Given the description of an element on the screen output the (x, y) to click on. 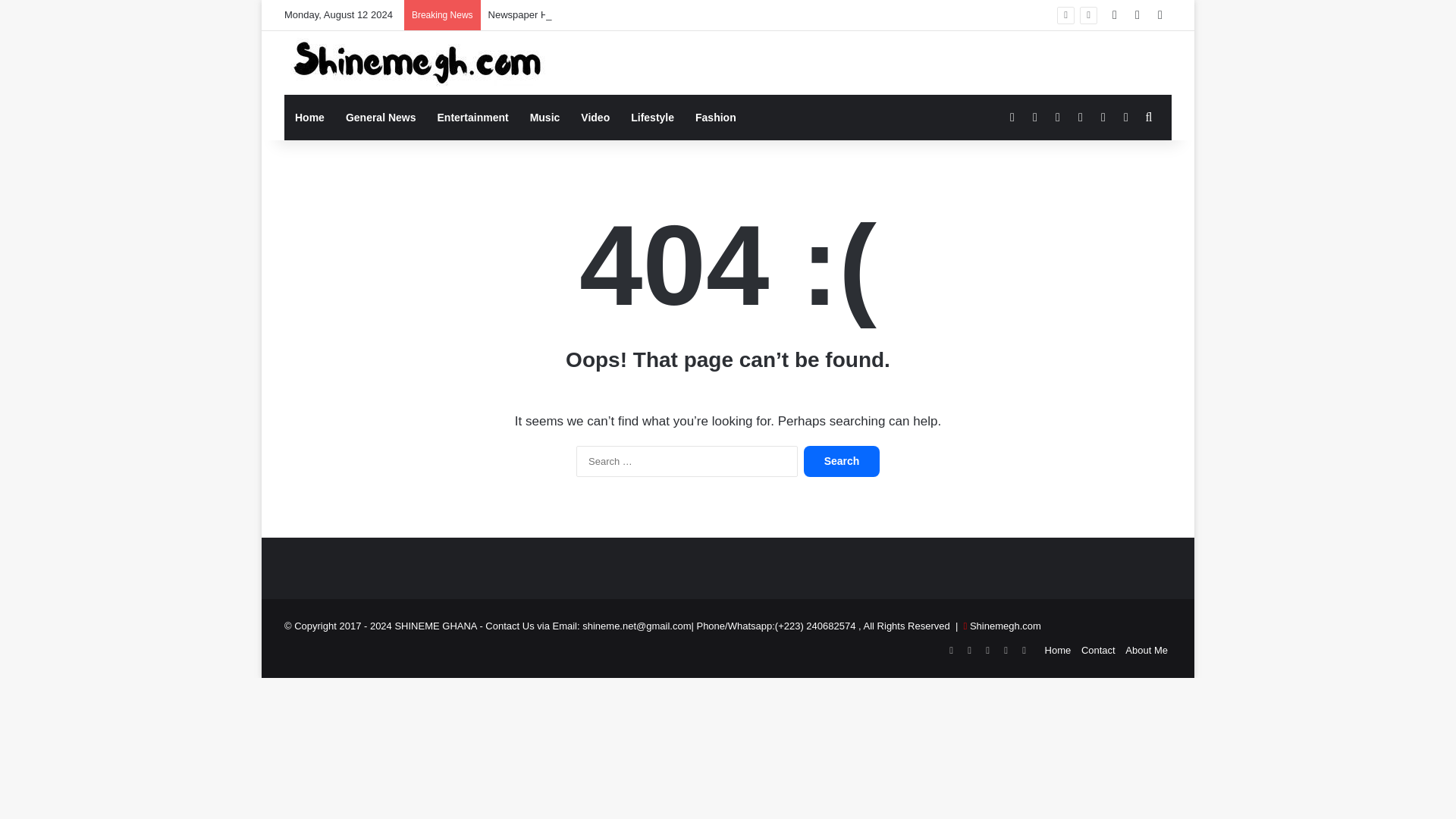
Home (1058, 650)
Shinemegh.com (1005, 625)
Home (308, 117)
Instagram (1005, 650)
Music (544, 117)
X (969, 650)
Video (595, 117)
Fashion (715, 117)
Shineme GH (416, 62)
Search (841, 460)
